Given the description of an element on the screen output the (x, y) to click on. 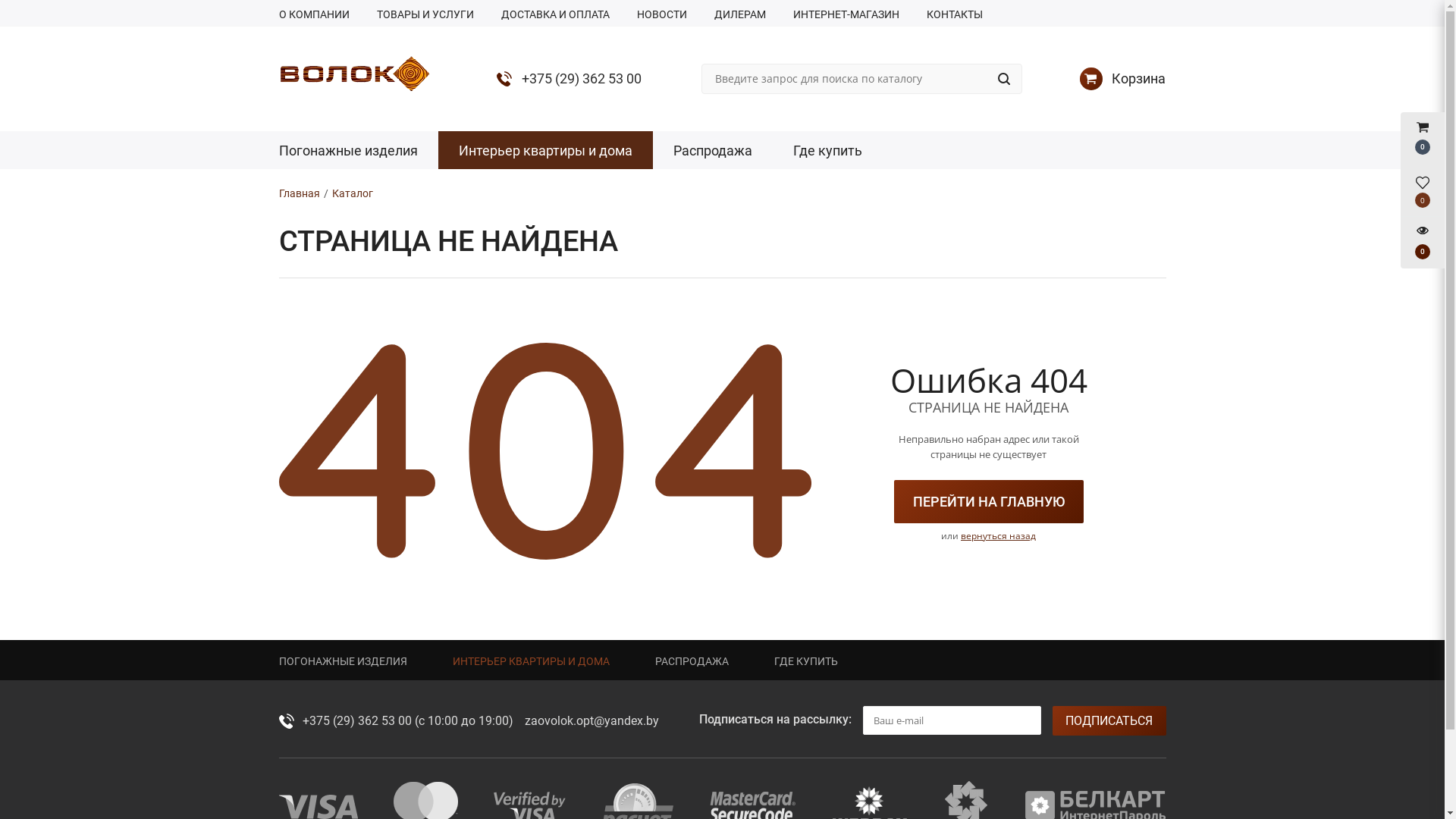
volokwood Element type: hover (354, 73)
zaovolok.opt@yandex.by Element type: text (591, 720)
+375 (29) 362 53 00 Element type: text (581, 77)
